Given the description of an element on the screen output the (x, y) to click on. 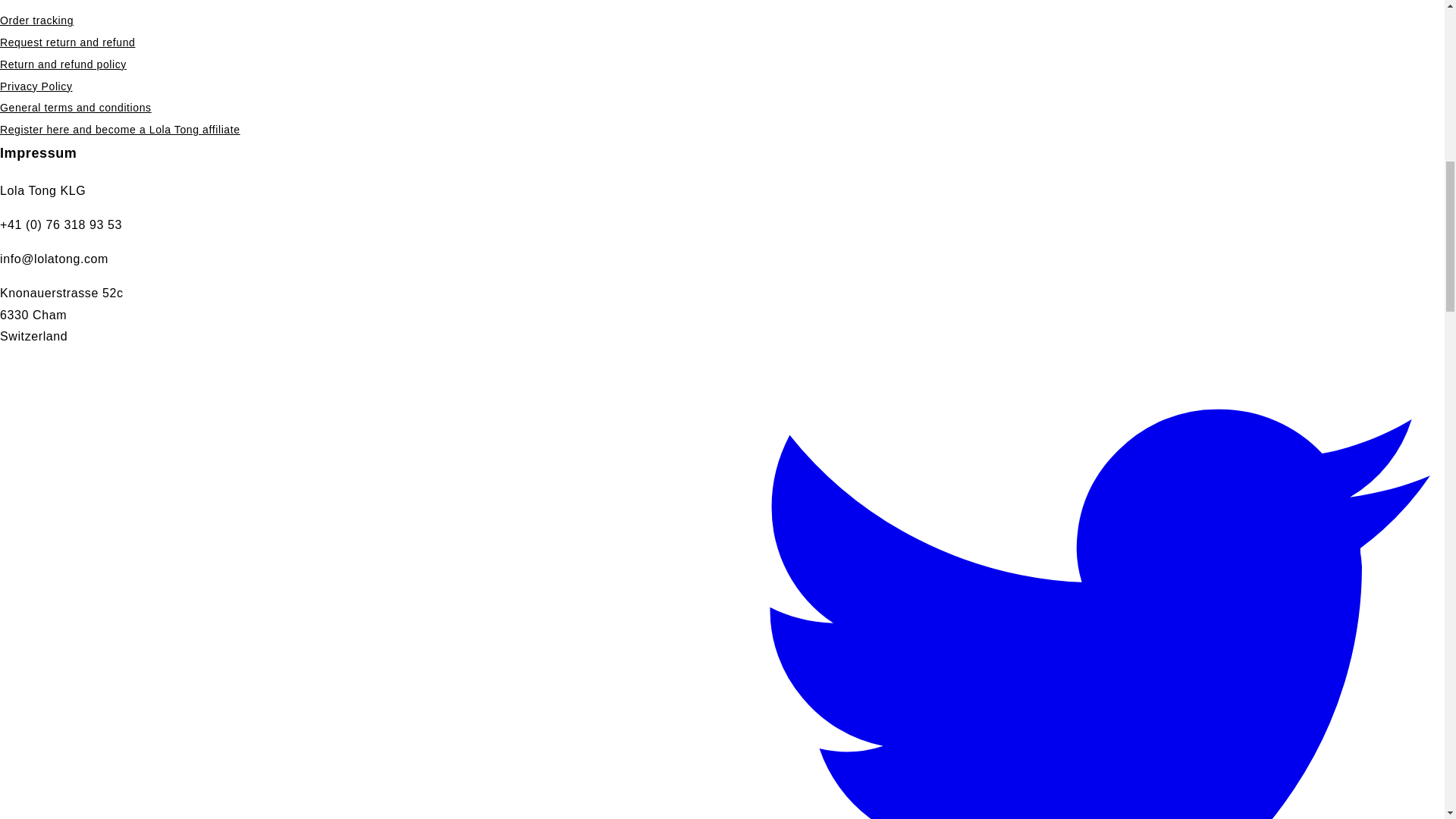
Privacy Policy (36, 86)
Return and refund policy (63, 64)
Register here and become a Lola Tong affiliate (120, 129)
Request return and refund (67, 42)
General terms and conditions (75, 107)
Order tracking (37, 20)
